Given the description of an element on the screen output the (x, y) to click on. 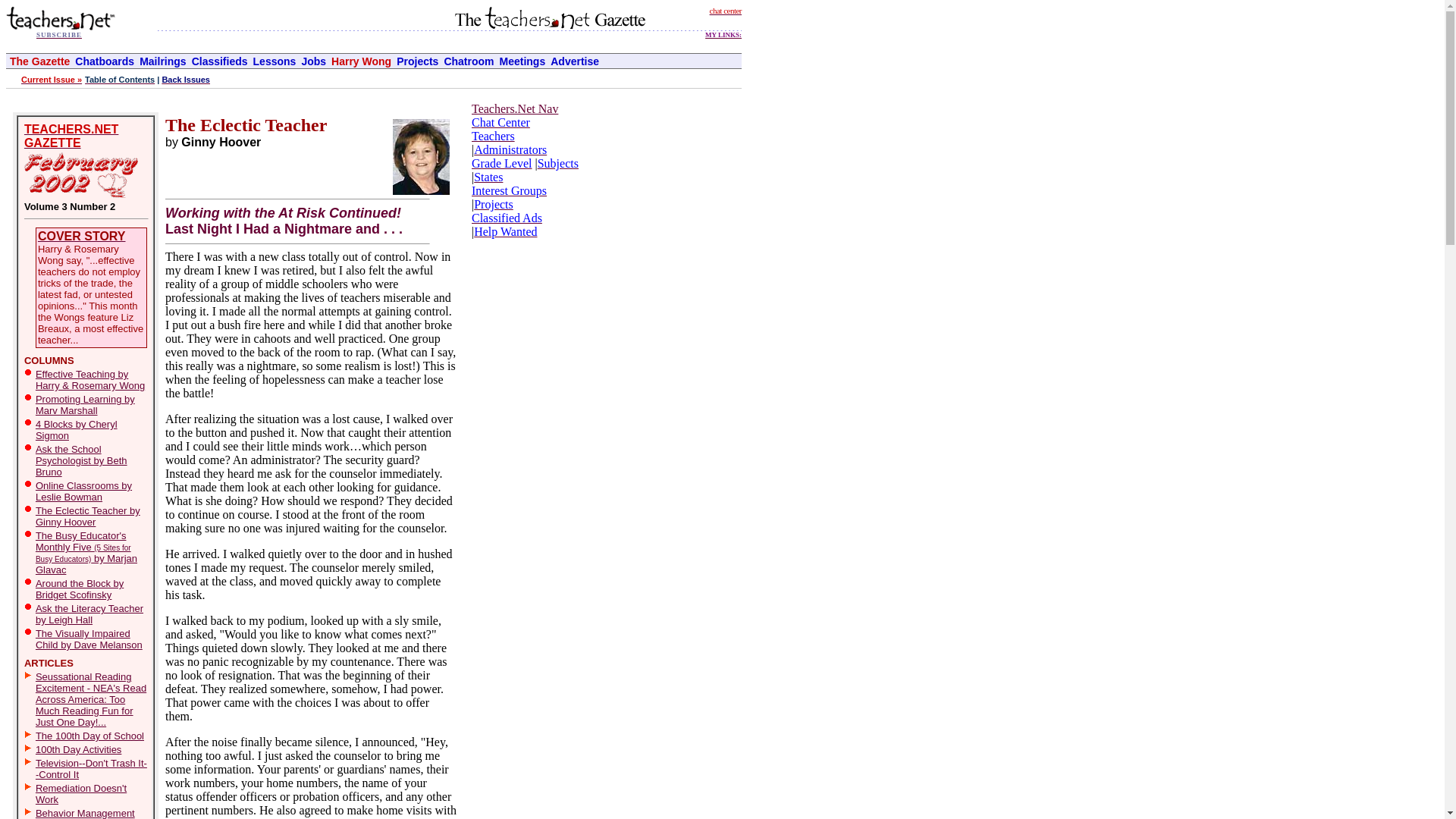
Mailrings (161, 61)
Chatboards (104, 61)
SUBSCRIBE (58, 33)
Classifieds (219, 61)
Lessons (274, 61)
MY LINKS: (722, 32)
chat center (725, 9)
The Gazette (39, 61)
